Given the description of an element on the screen output the (x, y) to click on. 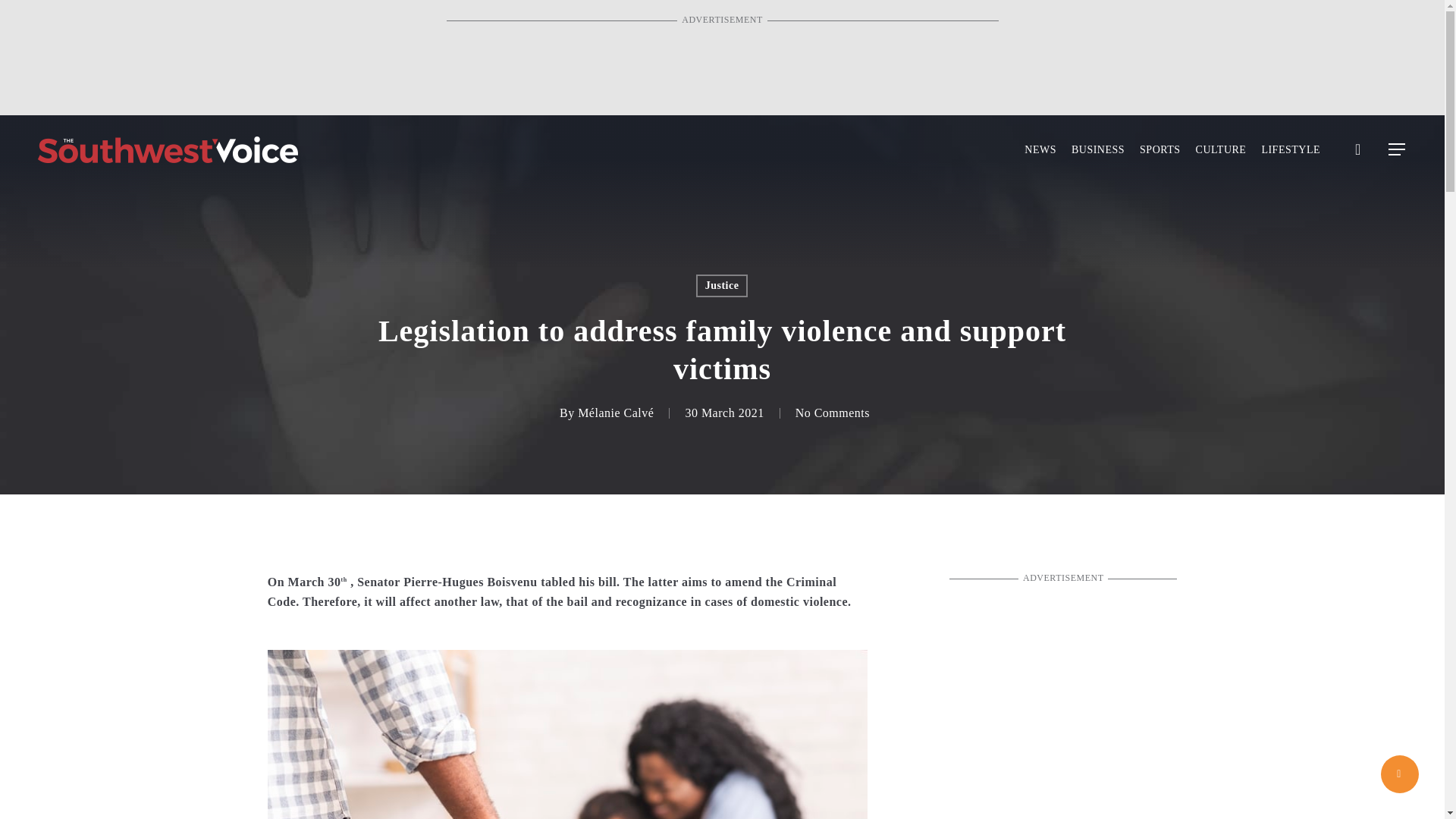
search (1358, 149)
3rd party ad content (1062, 687)
SPORTS (1160, 150)
Menu (1397, 149)
BUSINESS (1097, 150)
No Comments (831, 412)
Justice (721, 285)
NEWS (1041, 150)
LIFESTYLE (1290, 150)
3rd party ad content (721, 61)
